Given the description of an element on the screen output the (x, y) to click on. 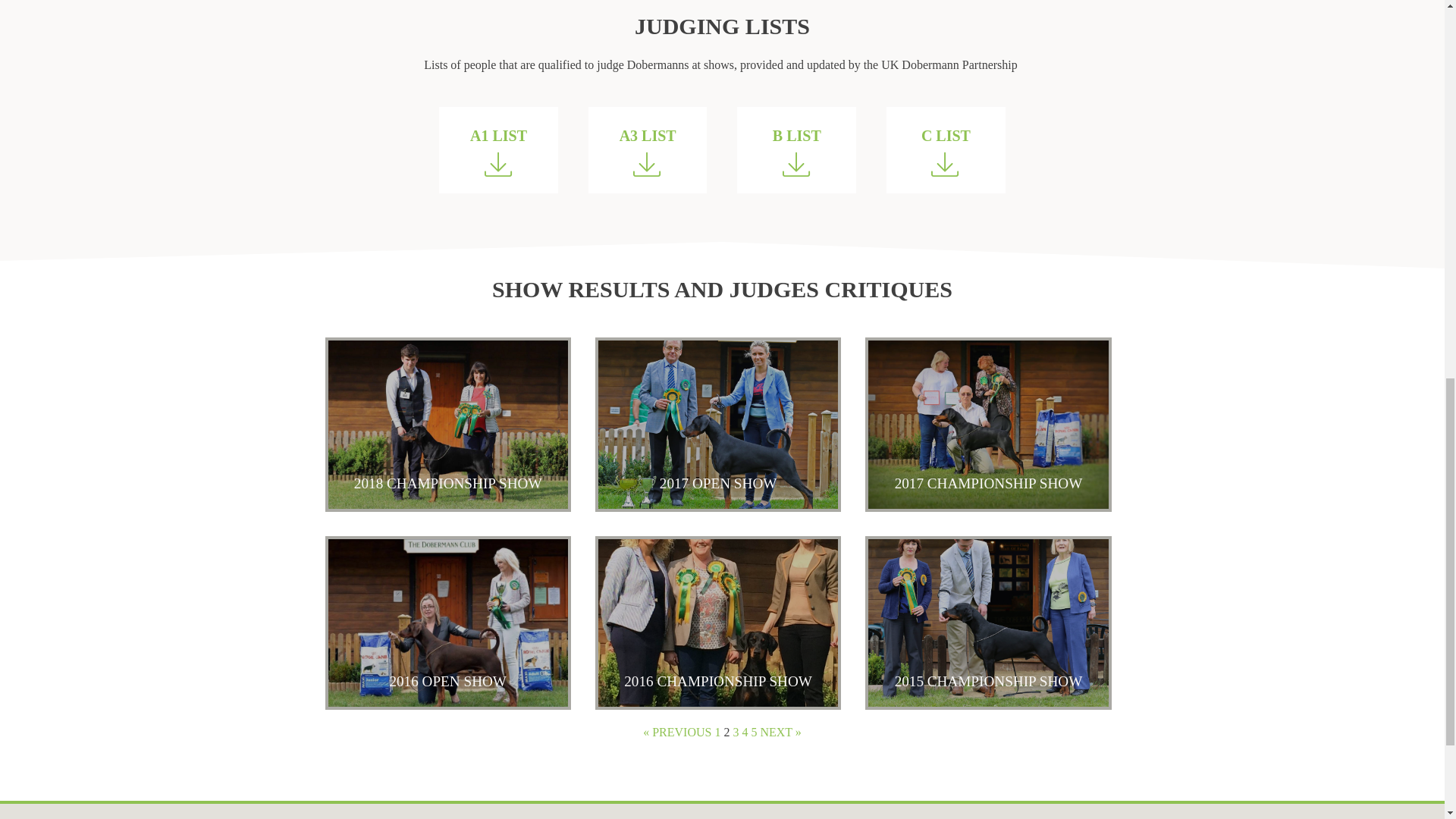
2015 CHAMPIONSHIP SHOW (987, 622)
2017 CHAMPIONSHIP SHOW (987, 424)
B LIST (796, 150)
1 (717, 731)
2018 CHAMPIONSHIP SHOW (447, 424)
3 (735, 731)
2016 OPEN SHOW (447, 622)
2017 OPEN SHOW (718, 424)
C LIST (946, 150)
A1 LIST (498, 150)
4 (744, 731)
2016 CHAMPIONSHIP SHOW (718, 622)
A3 LIST (647, 150)
5 (754, 731)
